Given the description of an element on the screen output the (x, y) to click on. 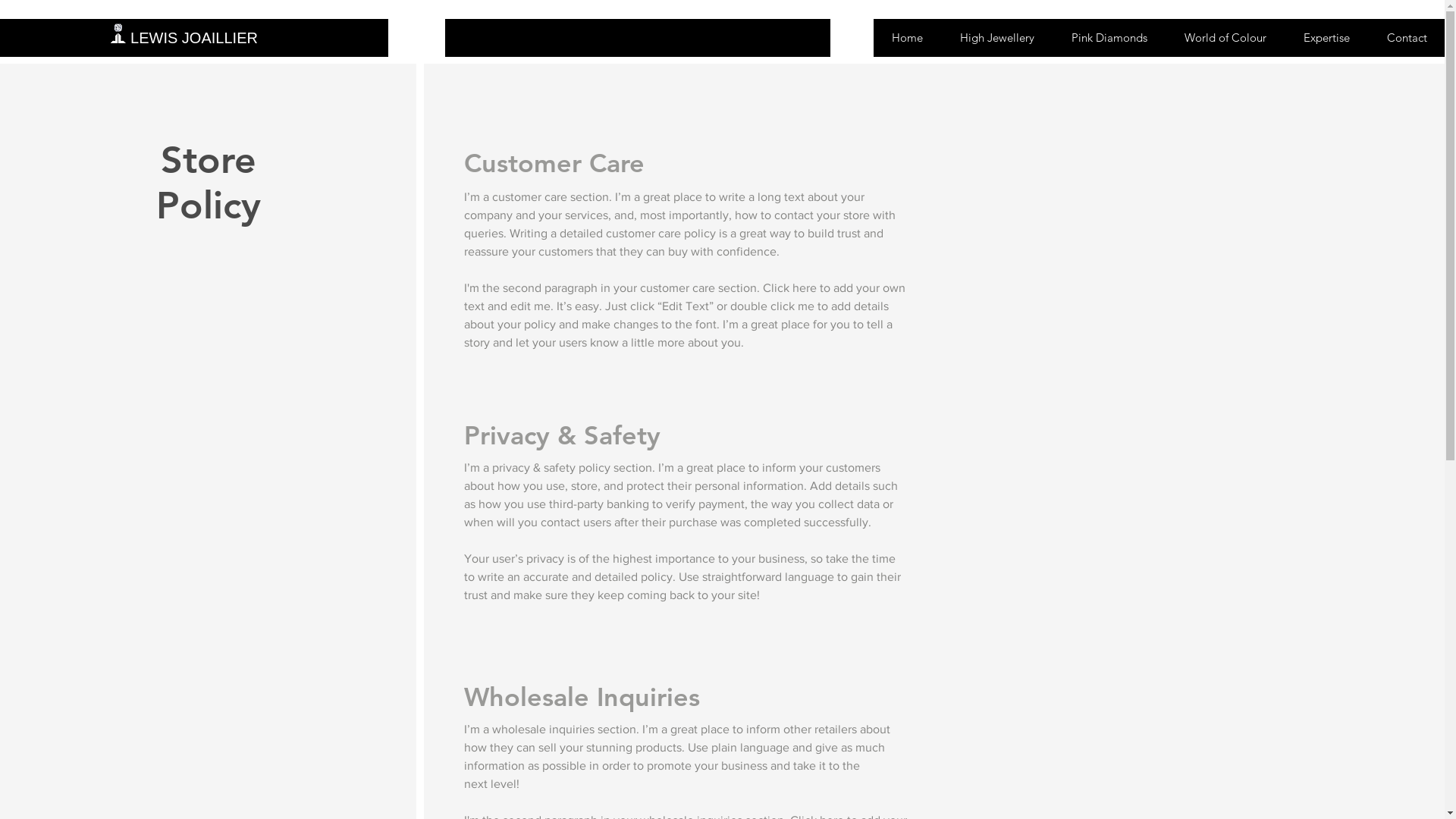
Contact Element type: text (1406, 37)
Home Element type: text (907, 37)
High Jewellery Element type: text (996, 37)
LEWIS JOAILLIER Element type: text (194, 37)
Expertise Element type: text (1326, 37)
Pink Diamonds Element type: text (1108, 37)
World of Colour Element type: text (1224, 37)
